Given the description of an element on the screen output the (x, y) to click on. 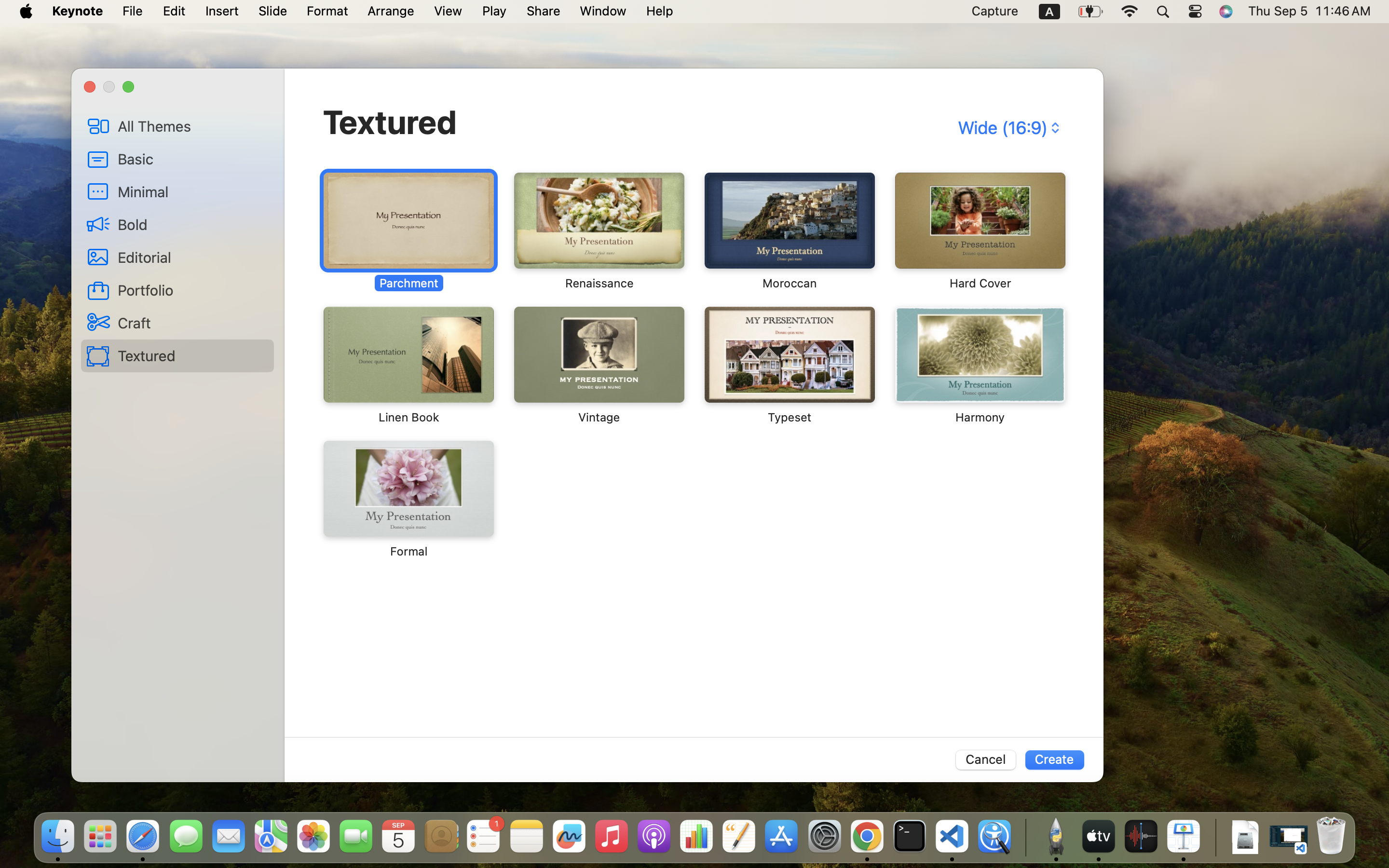
Portfolio Element type: AXStaticText (191, 289)
‎⁨Hard Cover⁩ Element type: AXButton (979, 230)
‎⁨Moroccan⁩ Element type: AXButton (789, 230)
Craft Element type: AXStaticText (191, 322)
